Given the description of an element on the screen output the (x, y) to click on. 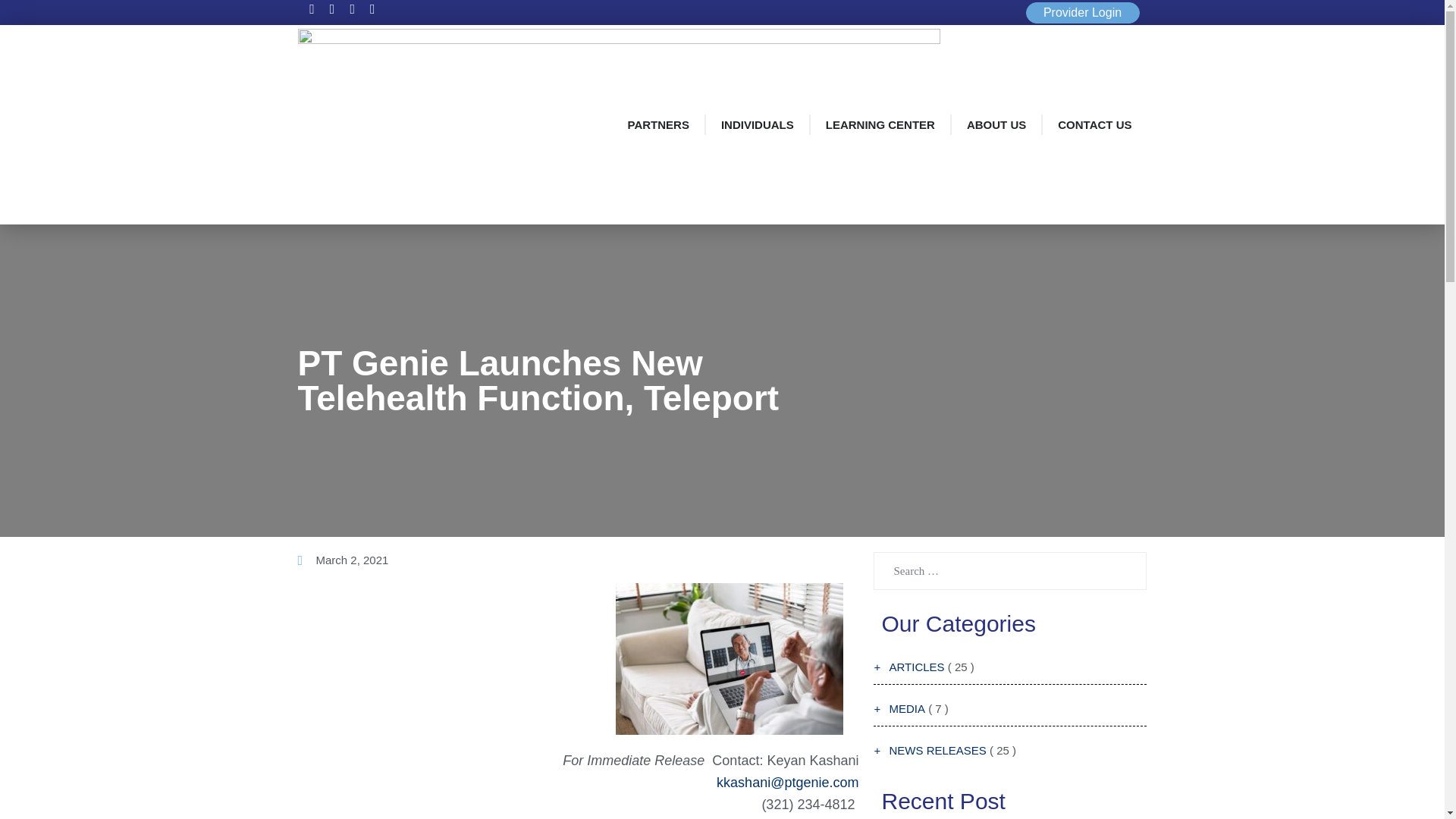
LEARNING CENTER (880, 124)
PARTNERS (658, 124)
Provider Login (1081, 11)
ABOUT US (996, 124)
INDIVIDUALS (757, 124)
CONTACT US (1094, 124)
